Given the description of an element on the screen output the (x, y) to click on. 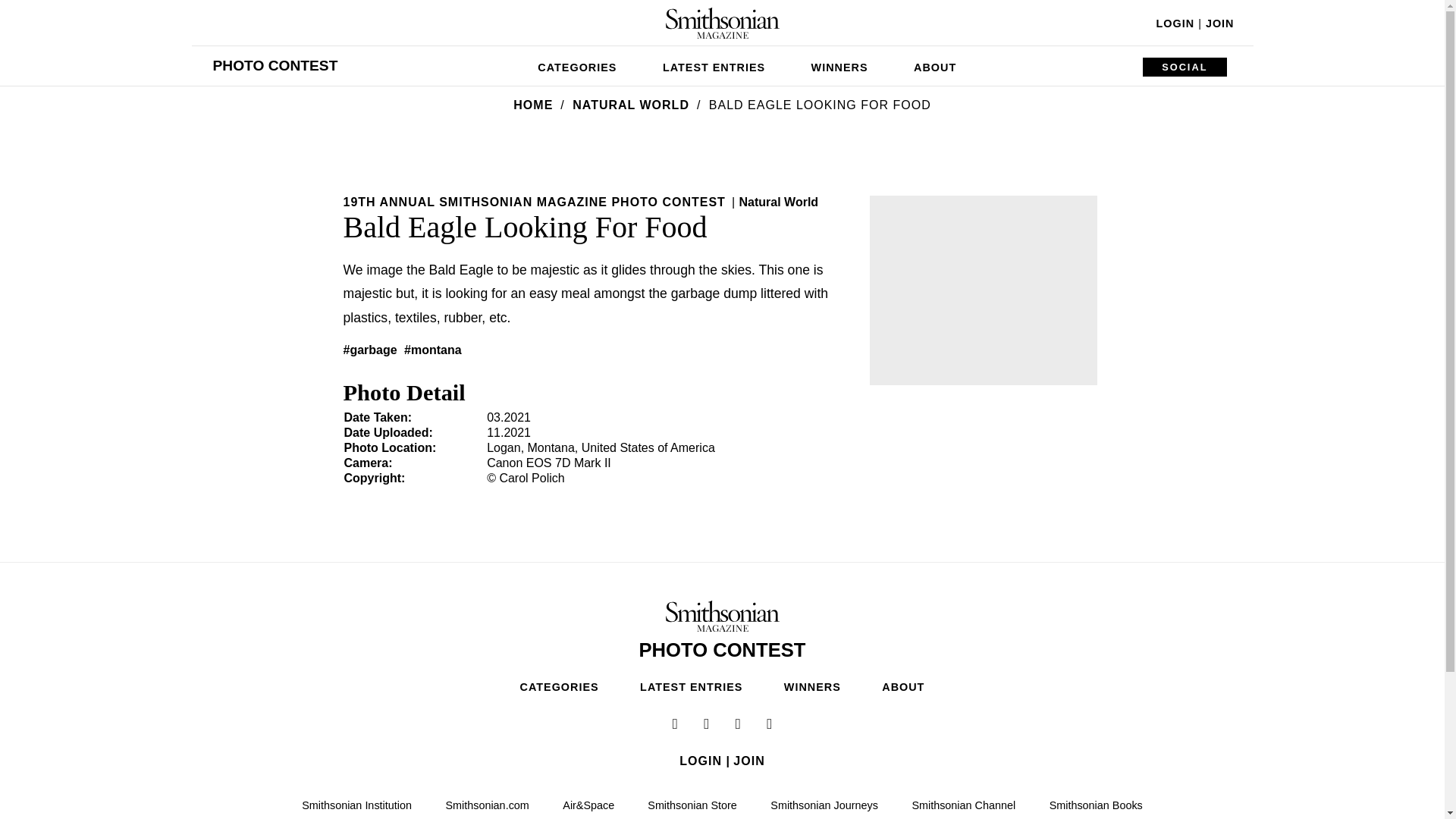
WINNERS (839, 65)
CATEGORIES (577, 65)
ABOUT (934, 65)
PHOTO CONTEST (274, 65)
LATEST ENTRIES (713, 65)
SOCIAL (1183, 66)
JOIN (1219, 23)
